Given the description of an element on the screen output the (x, y) to click on. 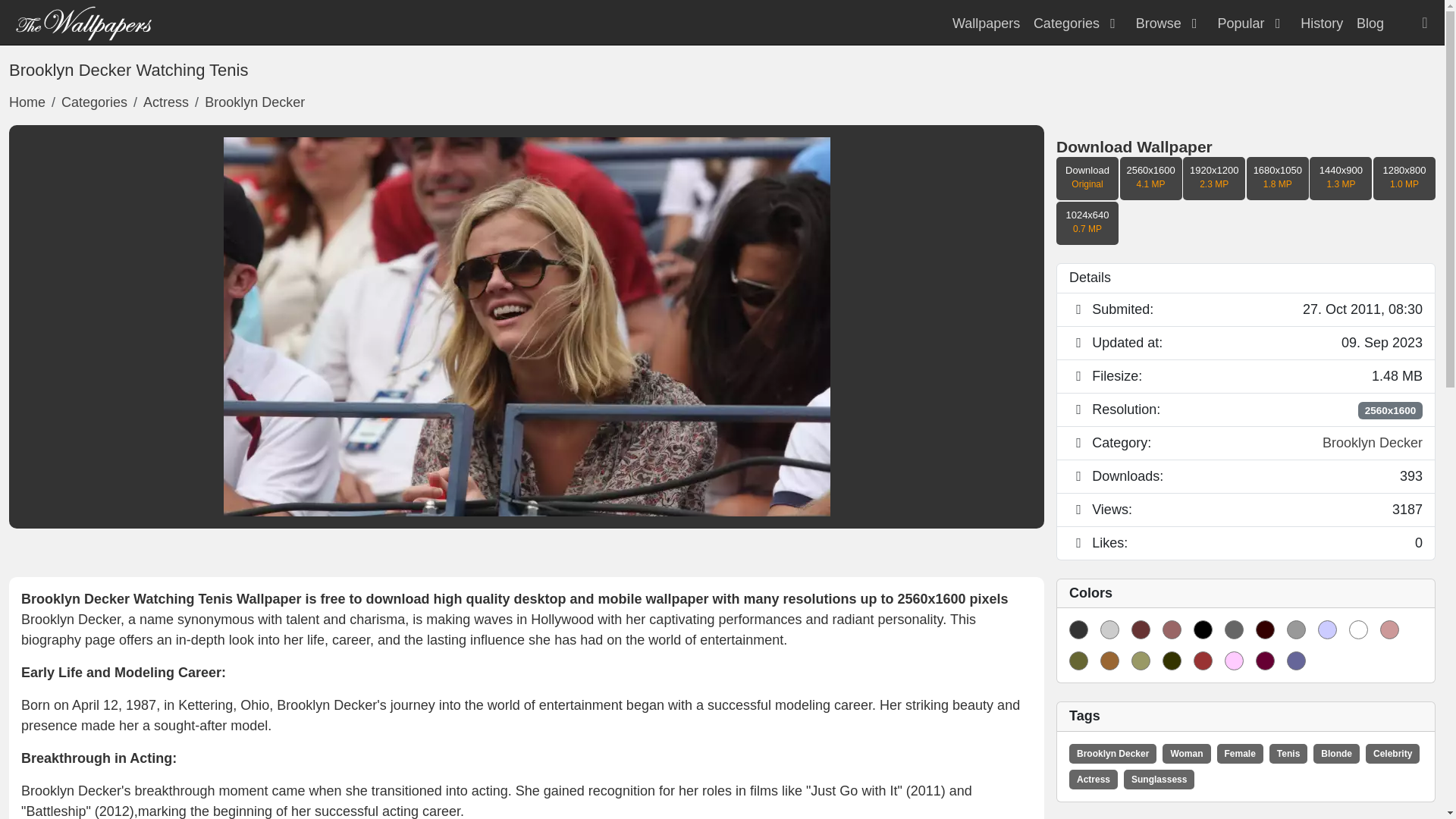
Wallpapers (986, 23)
Wallpapers (83, 21)
Wallpapers (986, 23)
